Given the description of an element on the screen output the (x, y) to click on. 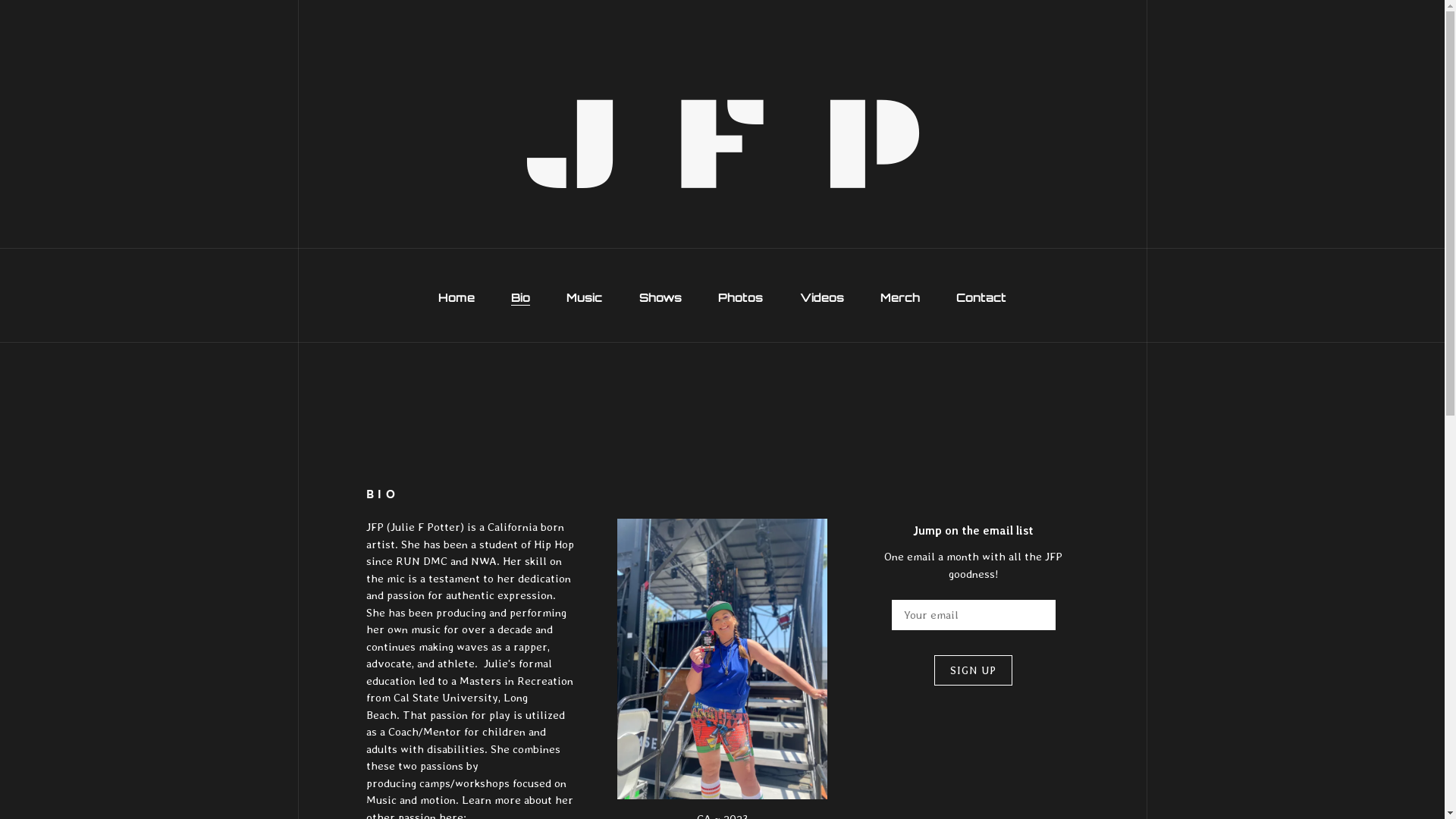
SIGN UP Element type: text (973, 670)
Merch Element type: text (899, 297)
Music Element type: text (584, 297)
Videos Element type: text (822, 297)
JFP Element type: text (722, 142)
Shows Element type: text (660, 297)
Contact Element type: text (981, 297)
Home Element type: text (456, 297)
Bio Element type: text (520, 297)
Photos Element type: text (740, 297)
